Given the description of an element on the screen output the (x, y) to click on. 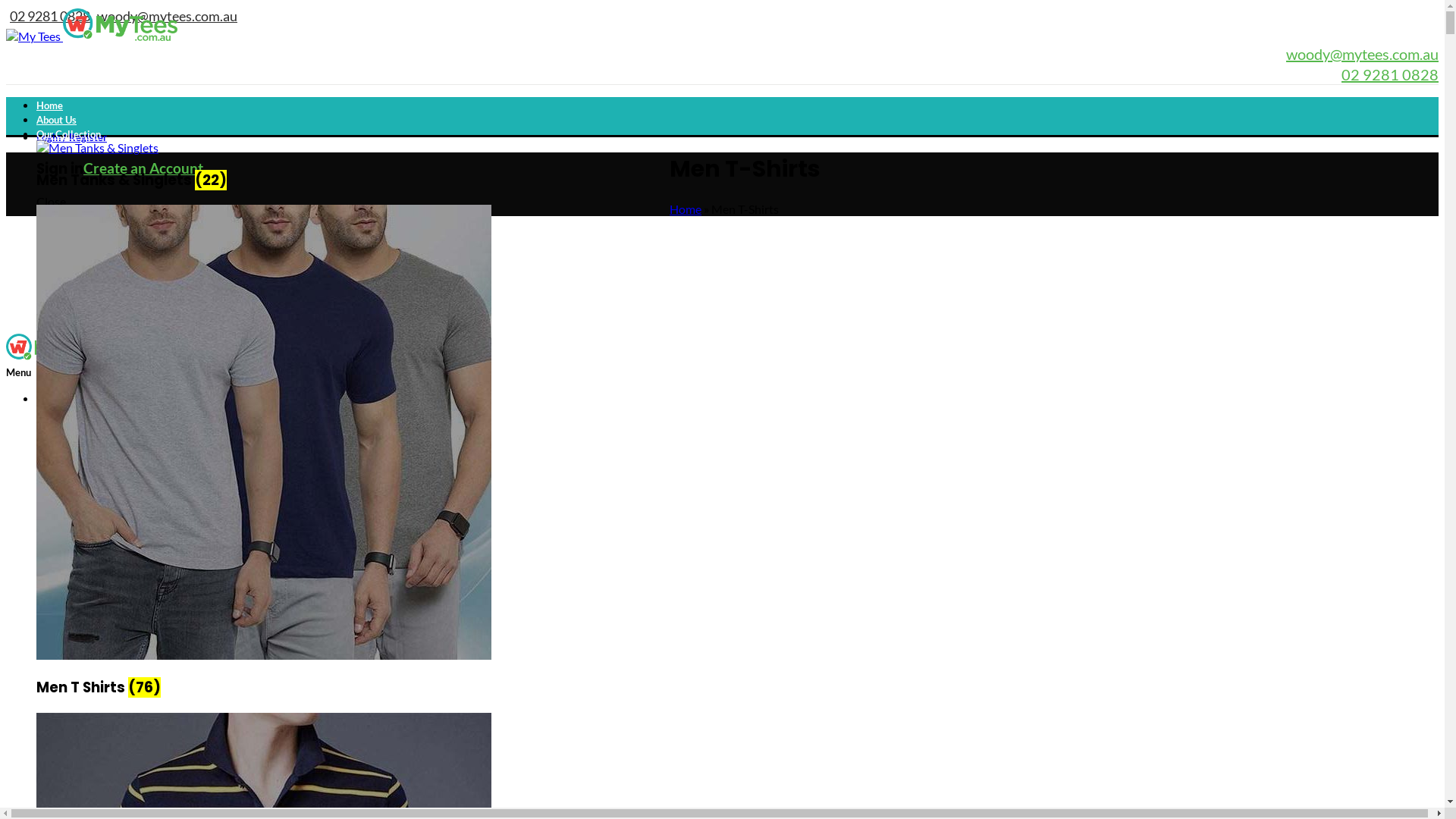
Login / Register Element type: text (71, 137)
woody@mytees.com.au Element type: text (1362, 53)
02 9281 0828 Element type: text (1389, 74)
Lost your password? Element type: text (89, 314)
About Us Element type: text (56, 119)
Login / Register Element type: text (71, 398)
Create an Account Element type: text (143, 428)
Our Collection Element type: text (68, 134)
Home Element type: text (49, 105)
02 9281 0828 Element type: text (49, 15)
Home Element type: text (685, 208)
Create an Account Element type: text (143, 168)
Log in Element type: text (55, 547)
Log in Element type: text (55, 286)
Lost your password? Element type: text (89, 574)
woody@mytees.com.au Element type: text (167, 15)
